Given the description of an element on the screen output the (x, y) to click on. 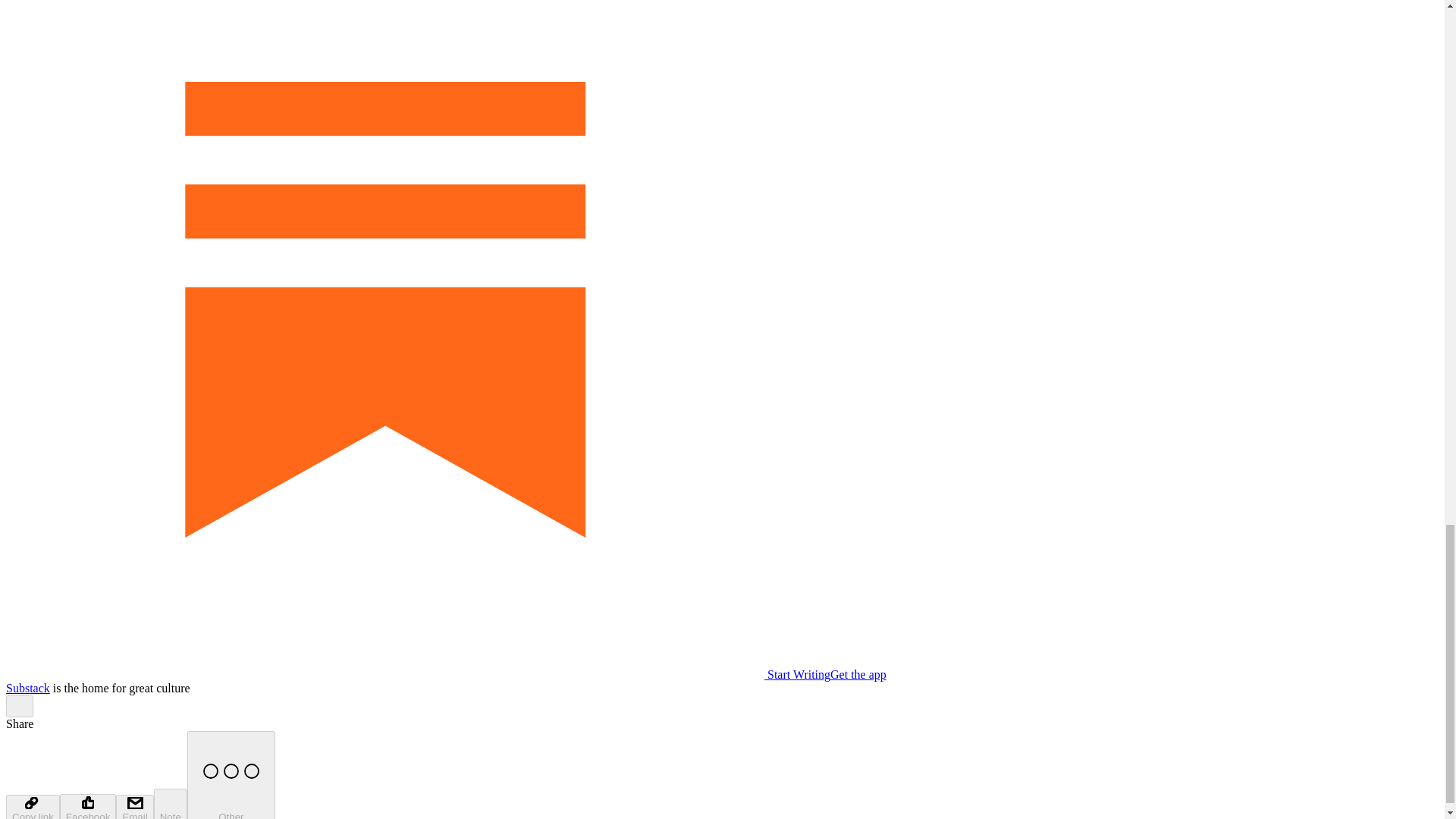
Substack (27, 687)
Get the app (857, 674)
Start Writing (417, 674)
